Given the description of an element on the screen output the (x, y) to click on. 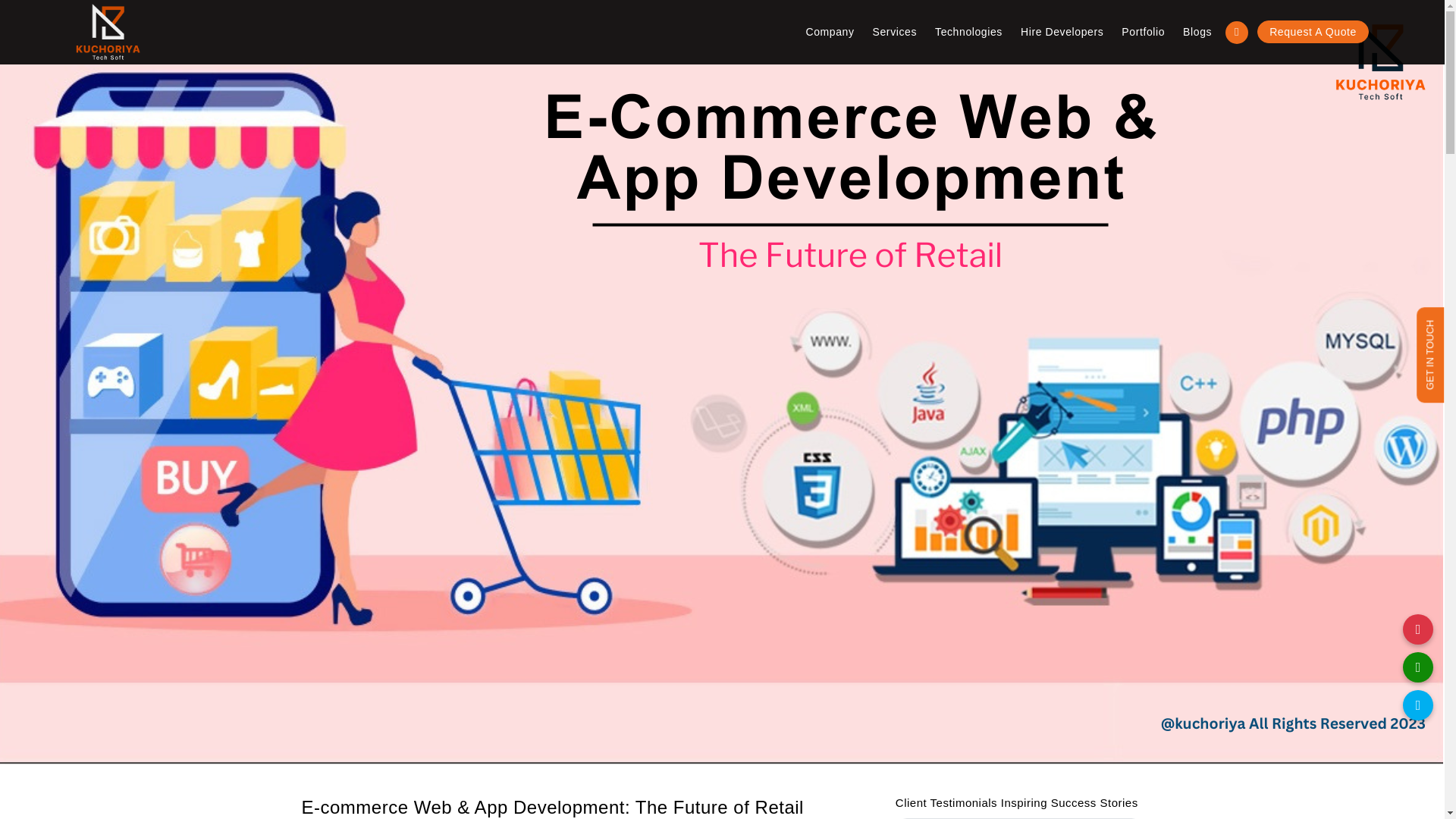
Technologies (968, 31)
Hire Developers (1062, 31)
Services (894, 31)
Company (829, 31)
